Given the description of an element on the screen output the (x, y) to click on. 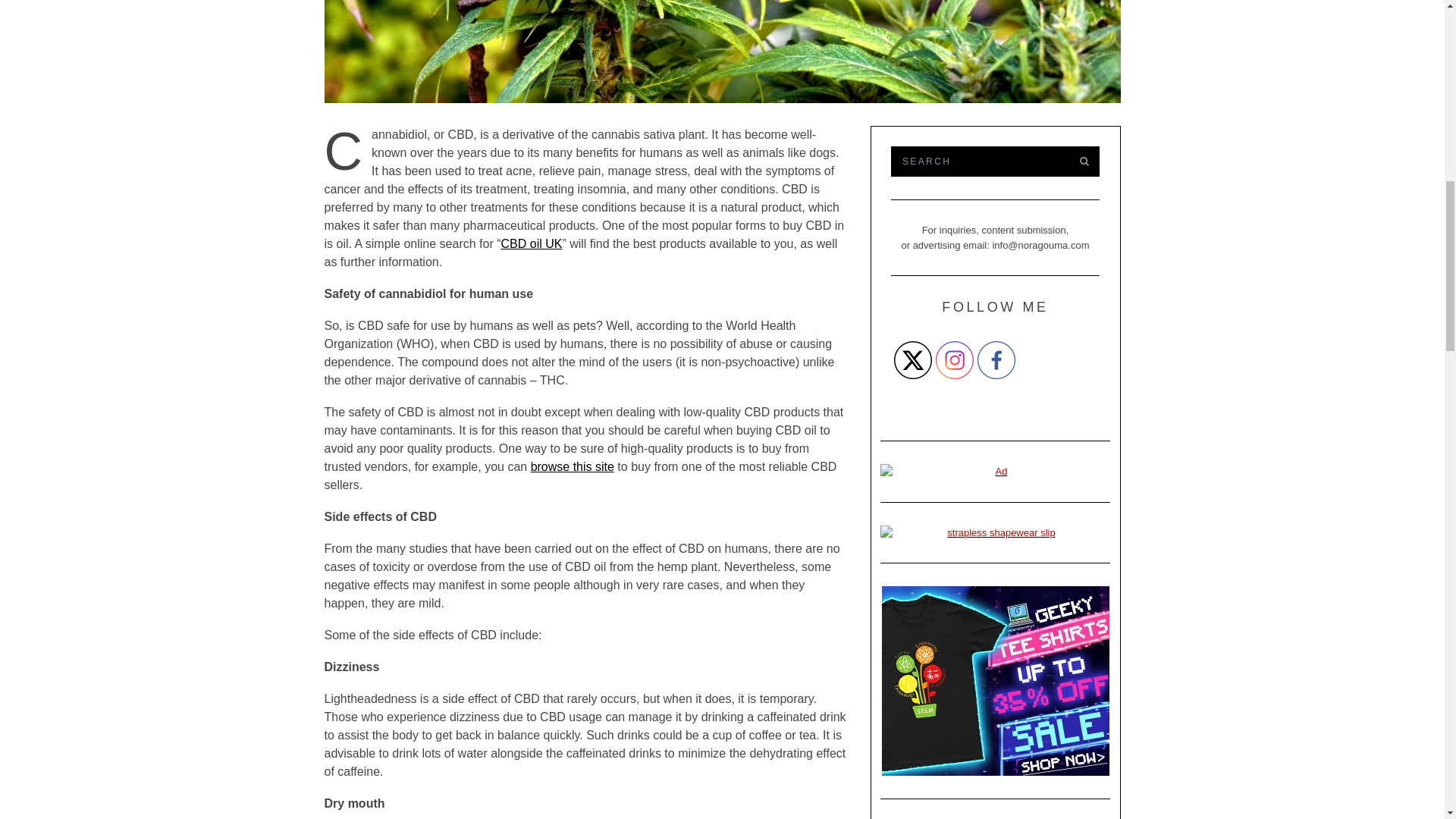
Instagram (955, 360)
Search (976, 161)
Facebook (995, 360)
Twitter (912, 360)
geek t shirt (994, 680)
